Given the description of an element on the screen output the (x, y) to click on. 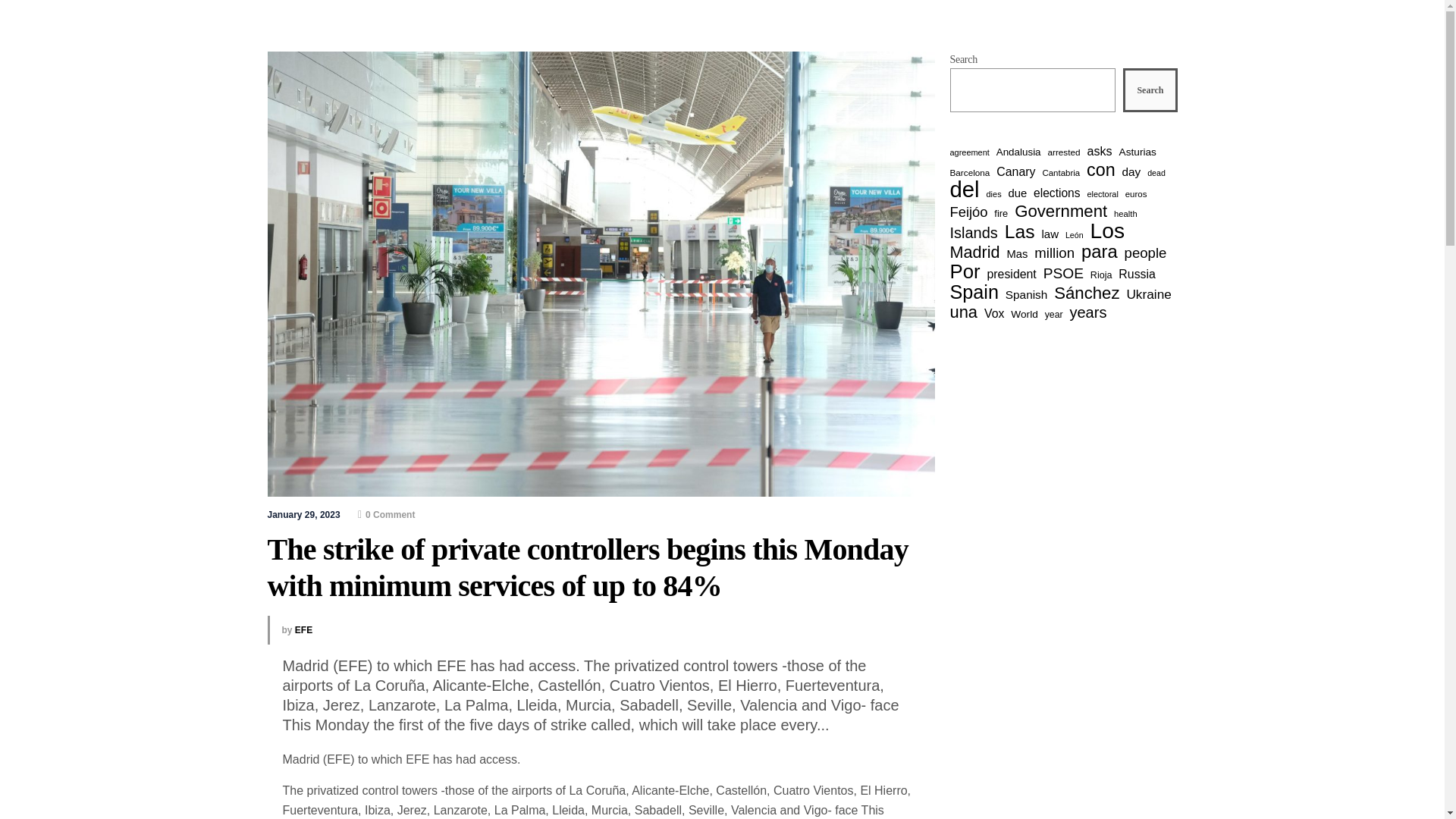
0 Comment (386, 514)
Search (1149, 89)
agreement (968, 152)
EFE (304, 629)
Andalusia (1018, 152)
